Given the description of an element on the screen output the (x, y) to click on. 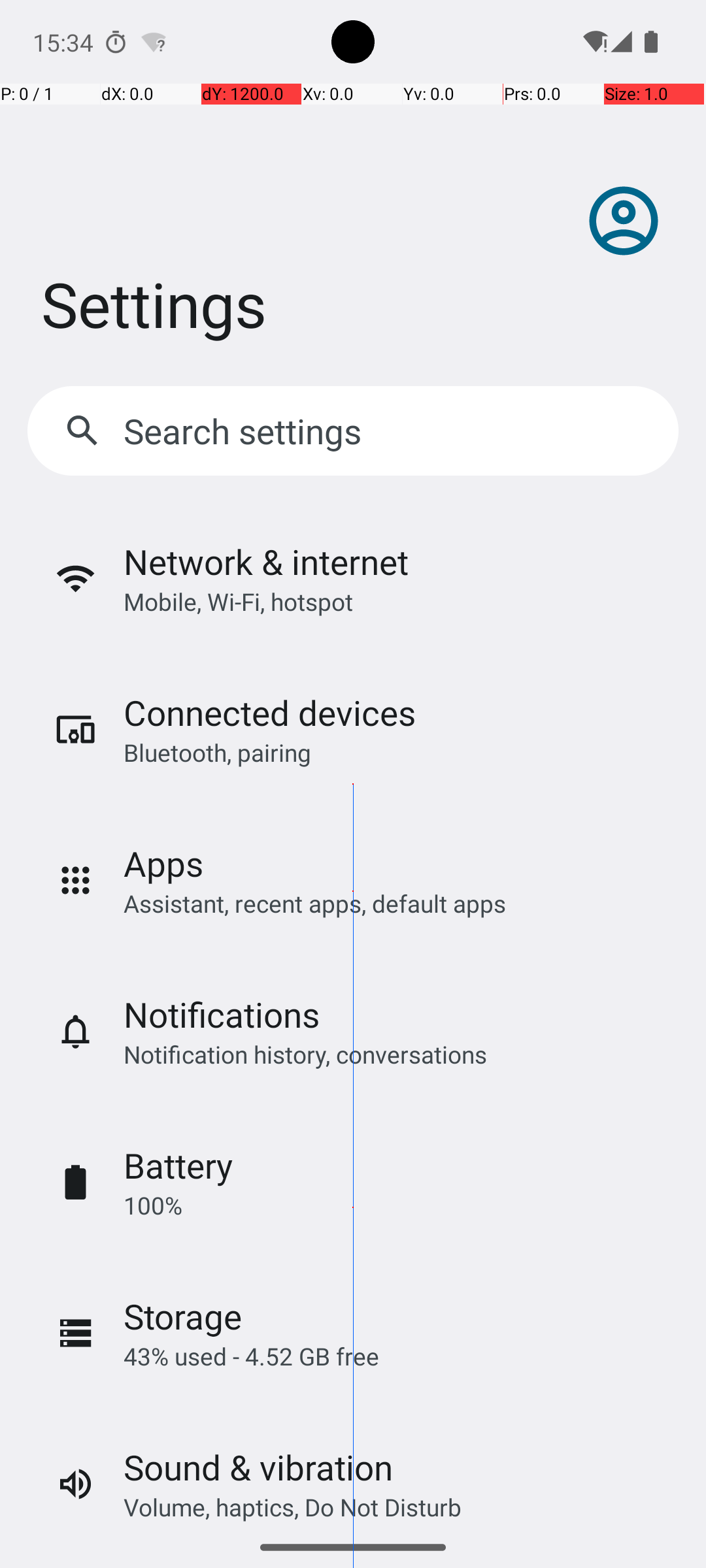
43% used - 4.52 GB free Element type: android.widget.TextView (251, 1355)
